Given the description of an element on the screen output the (x, y) to click on. 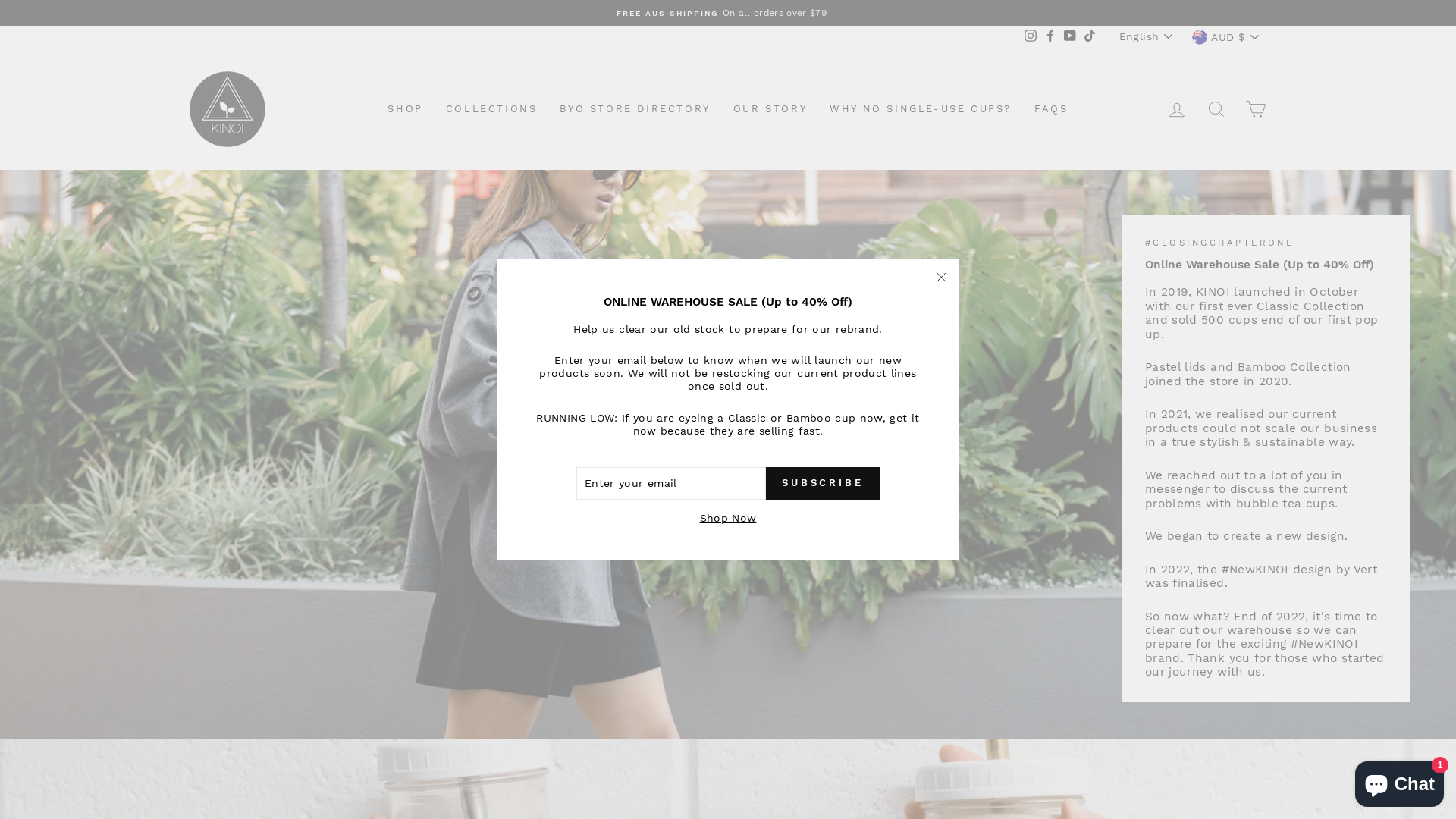
LOG IN Element type: text (1176, 109)
SEARCH Element type: text (1216, 109)
SUBSCRIBE Element type: text (822, 482)
English Element type: text (1146, 36)
FAQS Element type: text (1050, 109)
Shop Now Element type: text (728, 518)
Skip to content Element type: text (0, 0)
AUD $ Element type: text (1226, 36)
Shopify online store chat Element type: hover (1399, 780)
Instagram Element type: text (1030, 37)
WHY NO SINGLE-USE CUPS? Element type: text (920, 109)
SHOP Element type: text (404, 109)
"Close (esc)" Element type: text (940, 277)
Facebook Element type: text (1050, 37)
BYO STORE DIRECTORY Element type: text (634, 109)
CART Element type: text (1255, 109)
YouTube Element type: text (1069, 37)
TikTok Element type: text (1089, 37)
COLLECTIONS Element type: text (491, 109)
OUR STORY Element type: text (769, 109)
